Given the description of an element on the screen output the (x, y) to click on. 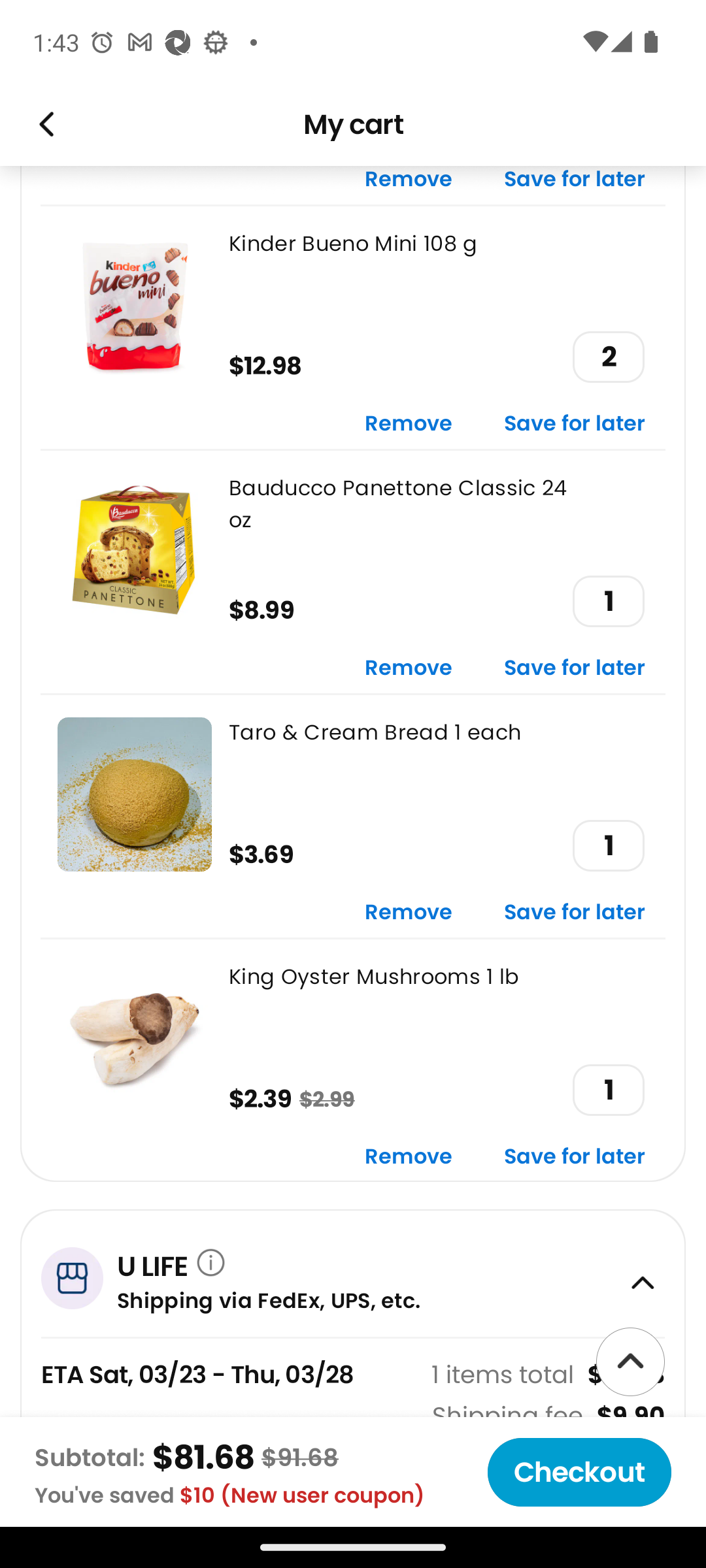
Remove (408, 184)
Save for later (574, 184)
2 (608, 356)
Remove (408, 423)
Save for later (574, 423)
1 (608, 601)
Remove (408, 668)
Save for later (574, 668)
1 (608, 845)
Remove (408, 913)
Save for later (574, 913)
1 (608, 1090)
Remove (408, 1157)
Save for later (574, 1157)
U LIFE Shipping via FedEx, UPS, etc. (352, 1271)
Checkout (579, 1471)
